Given the description of an element on the screen output the (x, y) to click on. 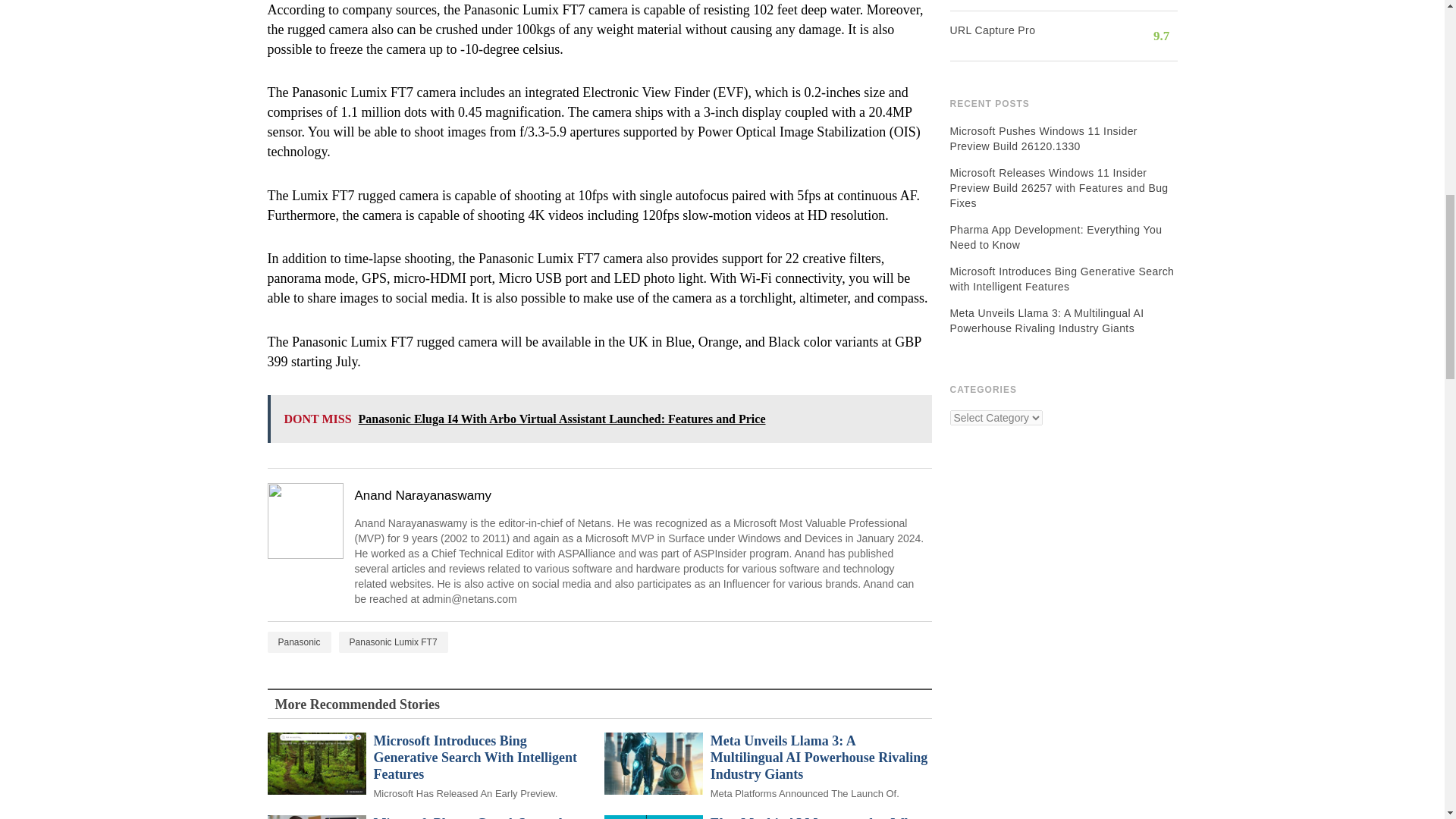
URL Capture Pro (1024, 29)
Posts by Anand Narayanaswamy (640, 495)
